Given the description of an element on the screen output the (x, y) to click on. 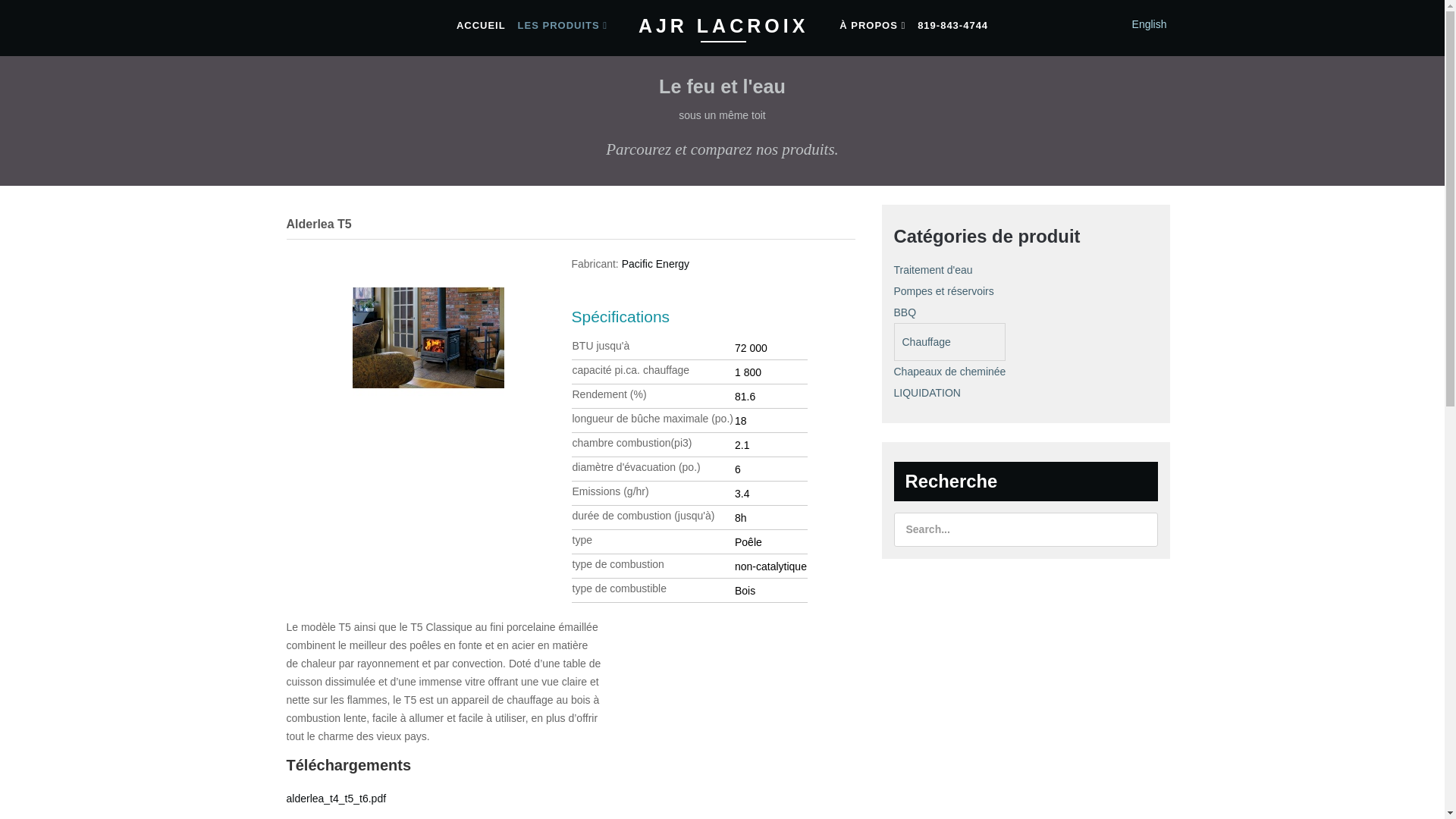
LES PRODUITS Element type: text (562, 25)
English Element type: text (1149, 24)
Pacific Energy Element type: text (655, 263)
BBQ Element type: text (949, 312)
AJR LACROIX Element type: text (723, 25)
LIQUIDATION Element type: text (949, 392)
819-843-4744 Element type: text (952, 25)
Chauffage Element type: text (949, 341)
alderlea_t4_t5_t6.pdf Element type: text (336, 798)
ACCUEIL Element type: text (480, 25)
Traitement d'eau Element type: text (949, 269)
